Given the description of an element on the screen output the (x, y) to click on. 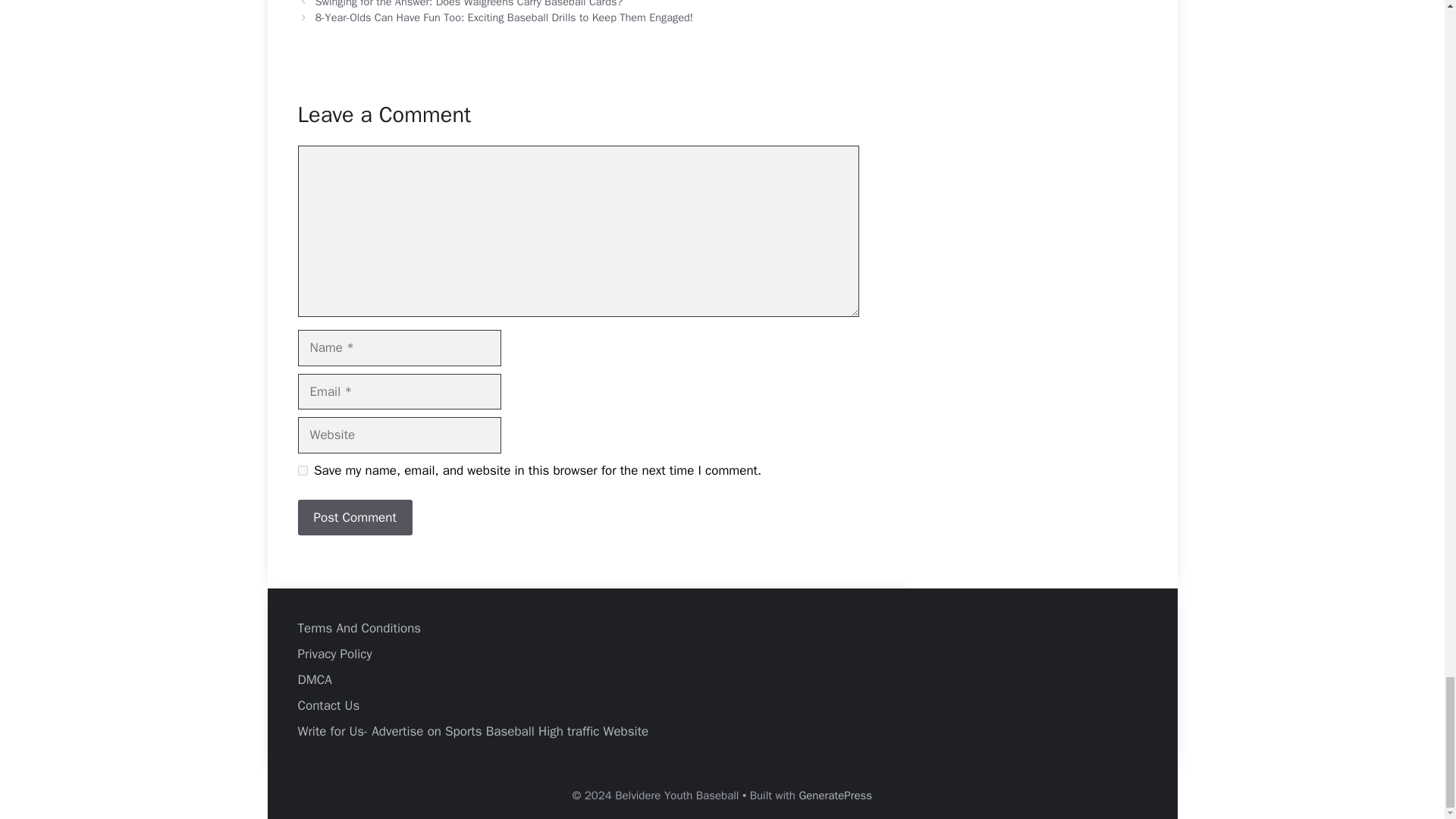
DMCA (314, 679)
GeneratePress (834, 795)
Post Comment (354, 517)
Terms And Conditions (358, 627)
yes (302, 470)
Post Comment (354, 517)
Contact Us (328, 705)
Privacy Policy (334, 653)
